Given the description of an element on the screen output the (x, y) to click on. 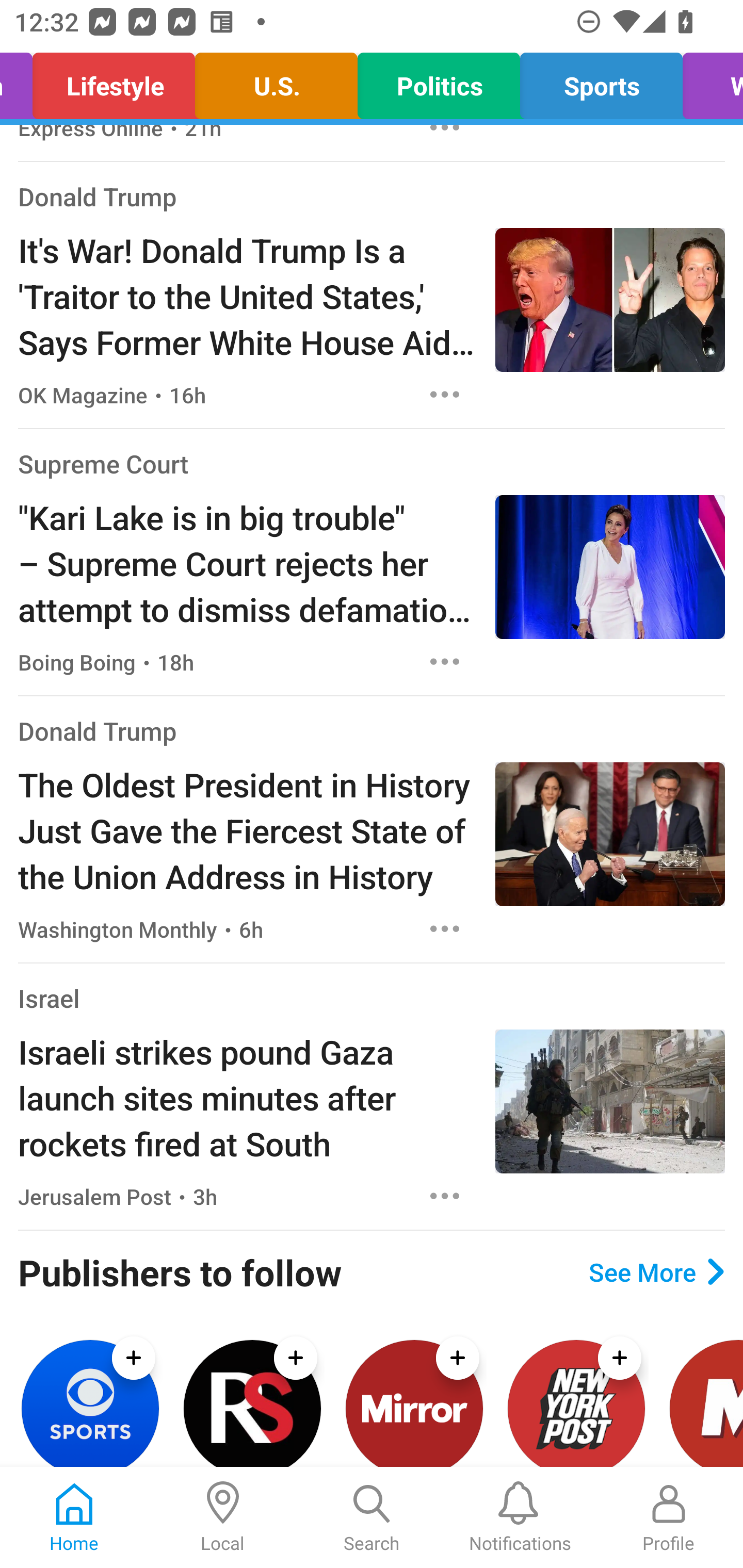
Lifestyle (113, 81)
U.S. (276, 81)
Politics (438, 81)
Sports (600, 81)
Donald Trump (97, 195)
Options (444, 394)
Supreme Court (102, 463)
Options (444, 661)
Donald Trump (97, 730)
Options (444, 928)
Israel (48, 997)
Options (444, 1196)
See More (656, 1271)
Local (222, 1517)
Search (371, 1517)
Notifications (519, 1517)
Profile (668, 1517)
